Given the description of an element on the screen output the (x, y) to click on. 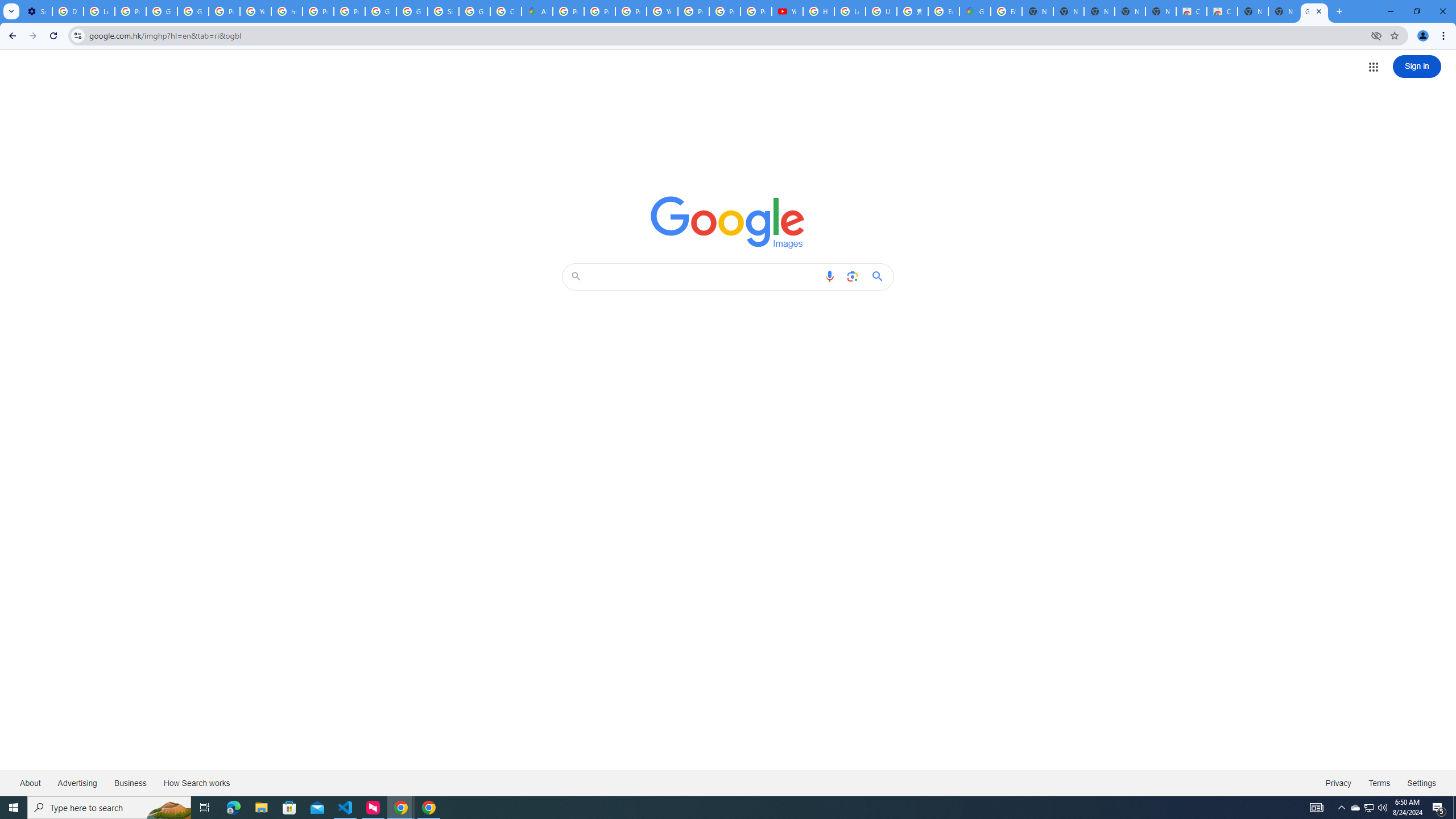
Policy Accountability and Transparency - Transparency Center (568, 11)
Delete photos & videos - Computer - Google Photos Help (67, 11)
Create your Google Account (505, 11)
